Given the description of an element on the screen output the (x, y) to click on. 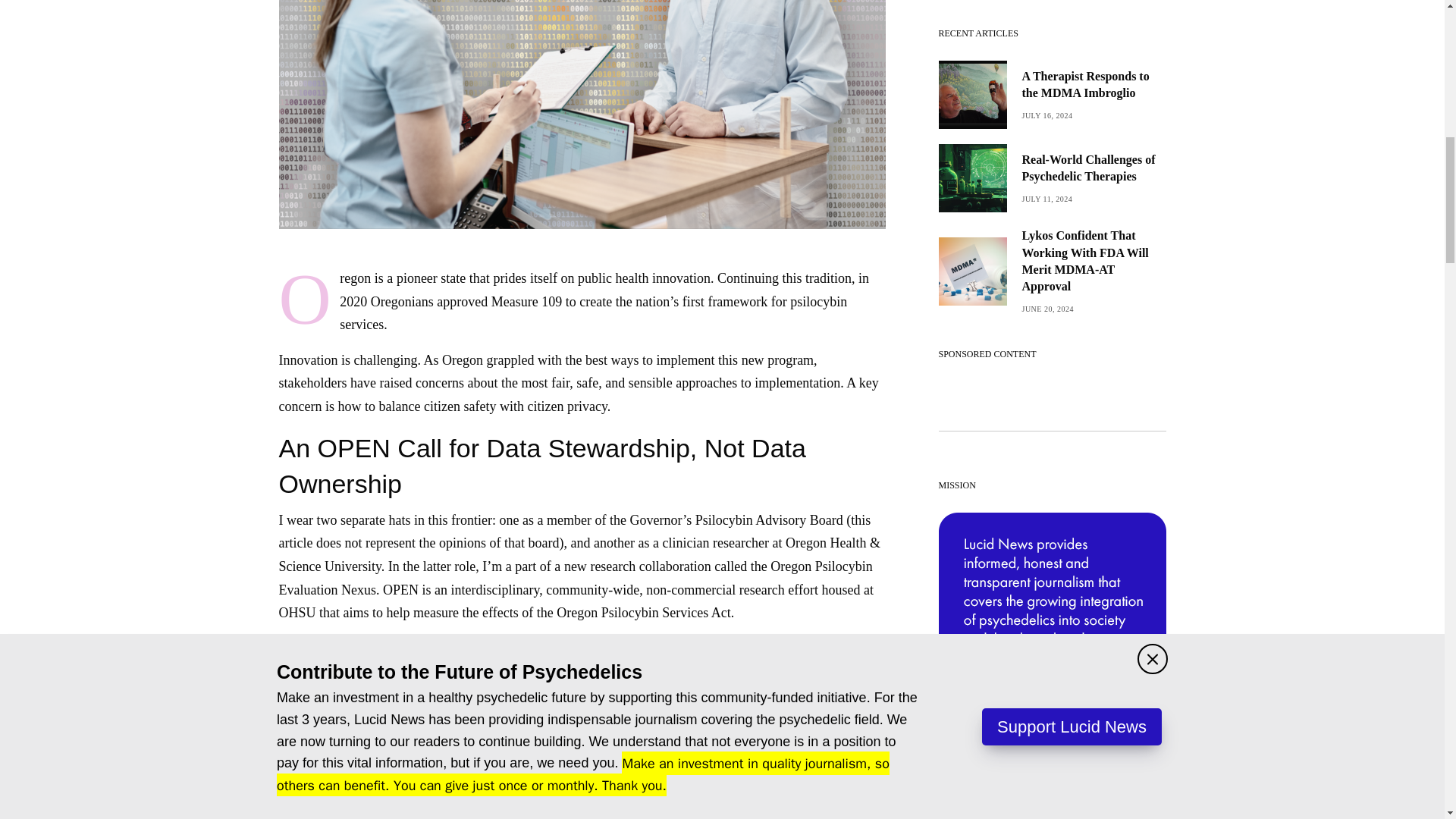
Real-World Challenges of Psychedelic Therapies (1094, 168)
A Therapist Responds to the MDMA Imbroglio (1094, 84)
